Given the description of an element on the screen output the (x, y) to click on. 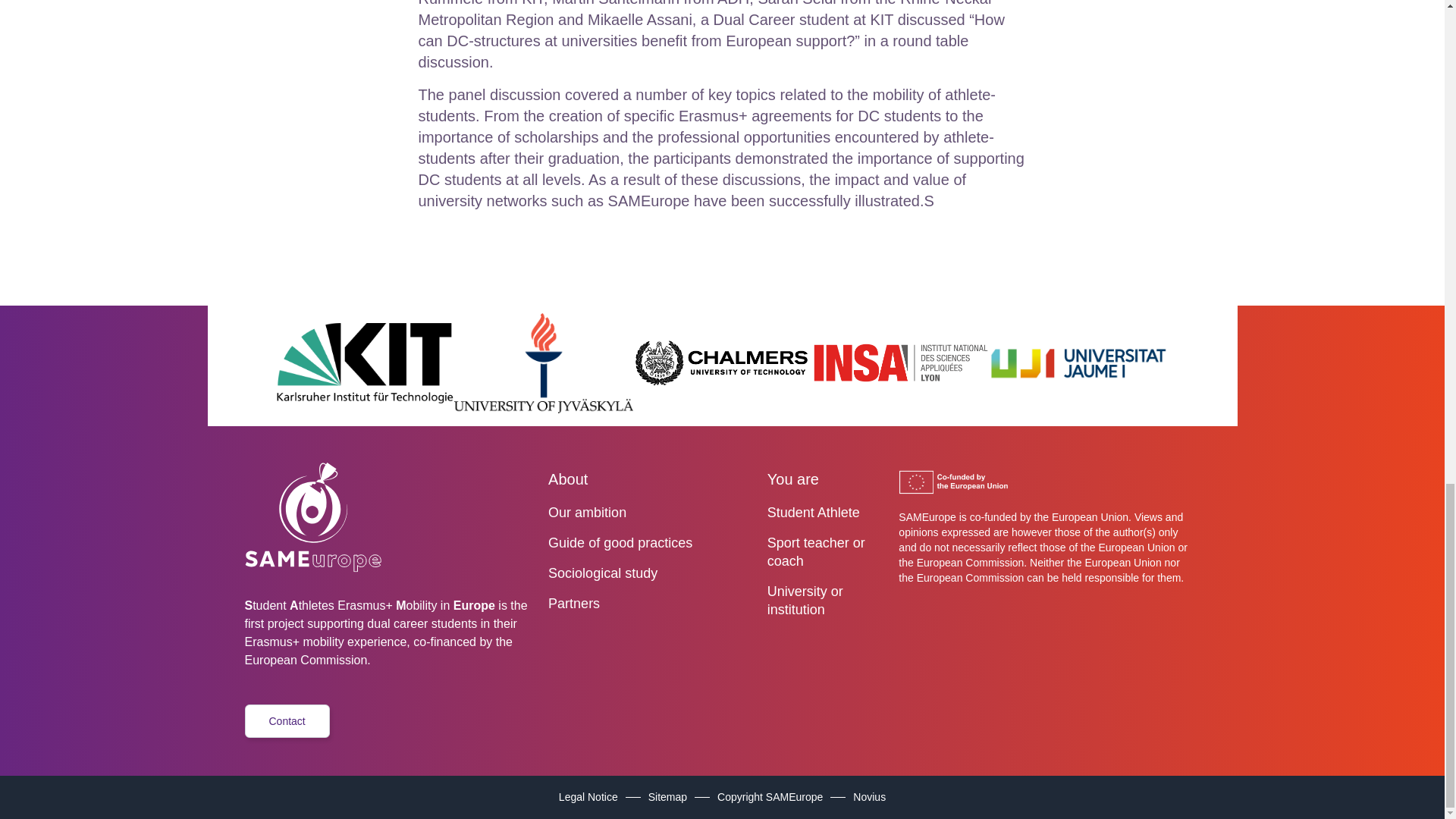
Guide of good practices (650, 542)
Contact (286, 720)
Sociological study (650, 573)
Partners (650, 603)
Our ambition (650, 512)
